Given the description of an element on the screen output the (x, y) to click on. 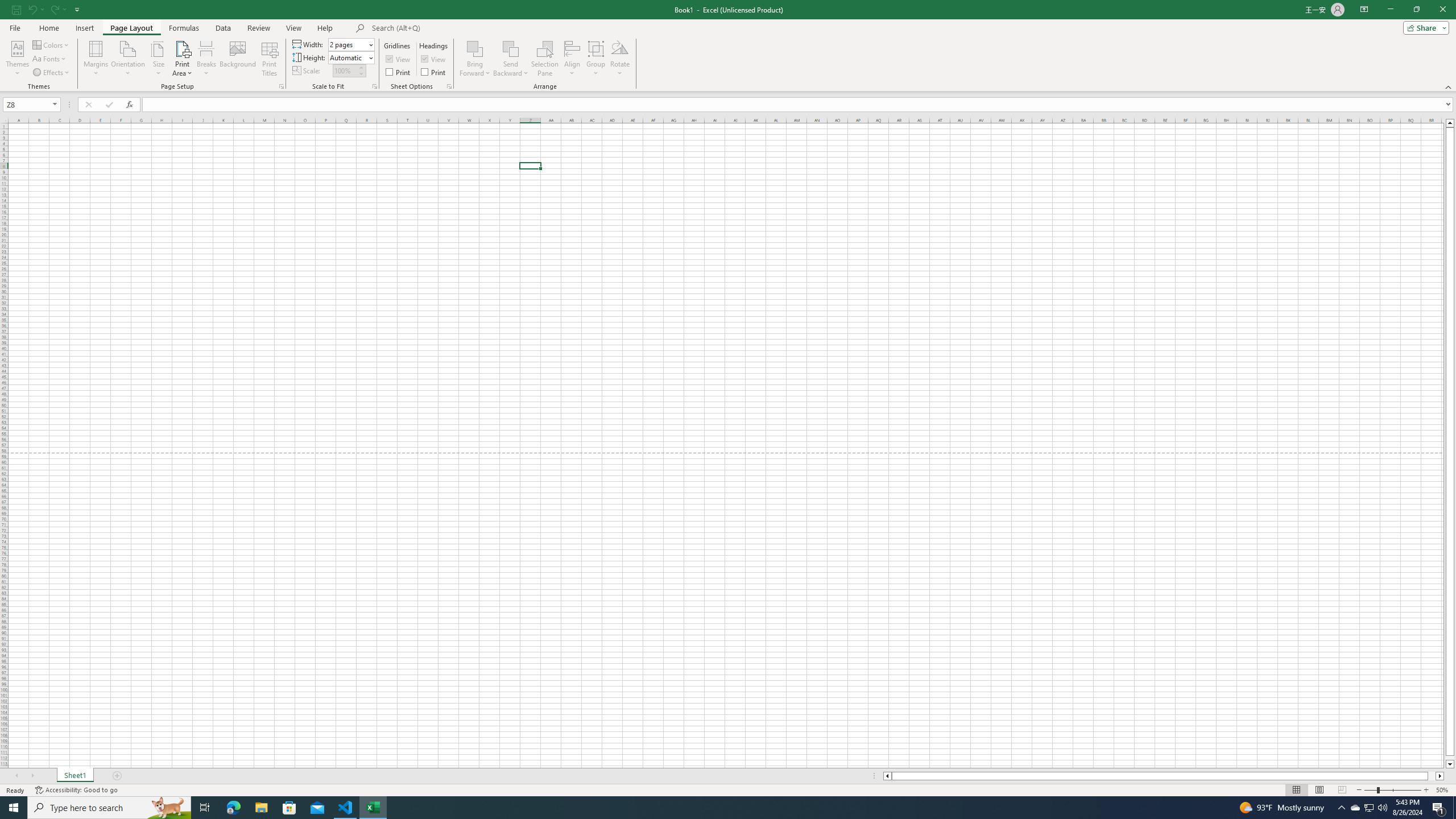
Less (360, 73)
Scale (344, 70)
Group (595, 58)
